Given the description of an element on the screen output the (x, y) to click on. 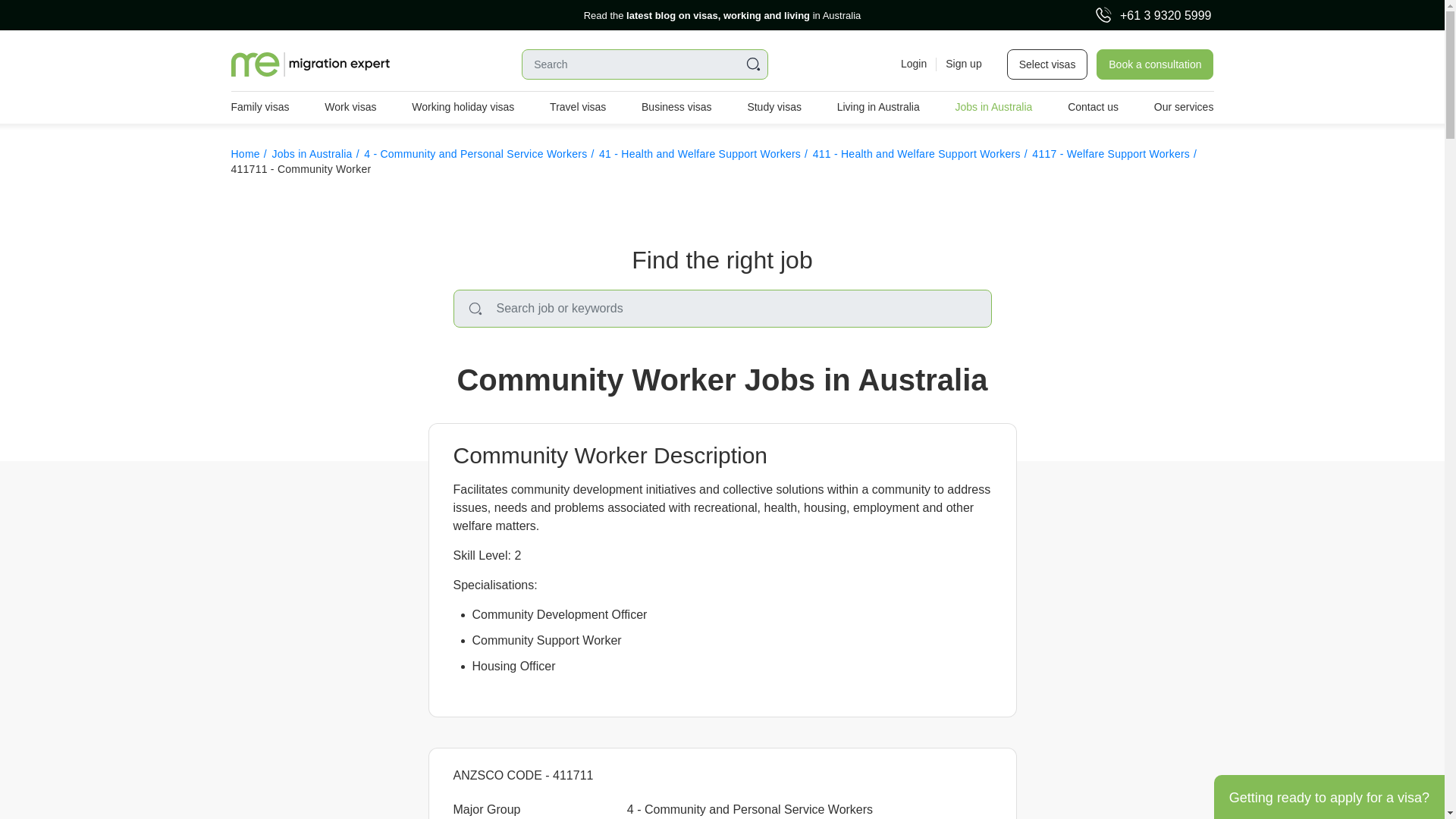
Free Eligibility Assessment (115, 15)
Sign up (958, 64)
Select visas (1047, 64)
Login (913, 64)
Family visas (259, 107)
Book a consultation (1154, 64)
